Given the description of an element on the screen output the (x, y) to click on. 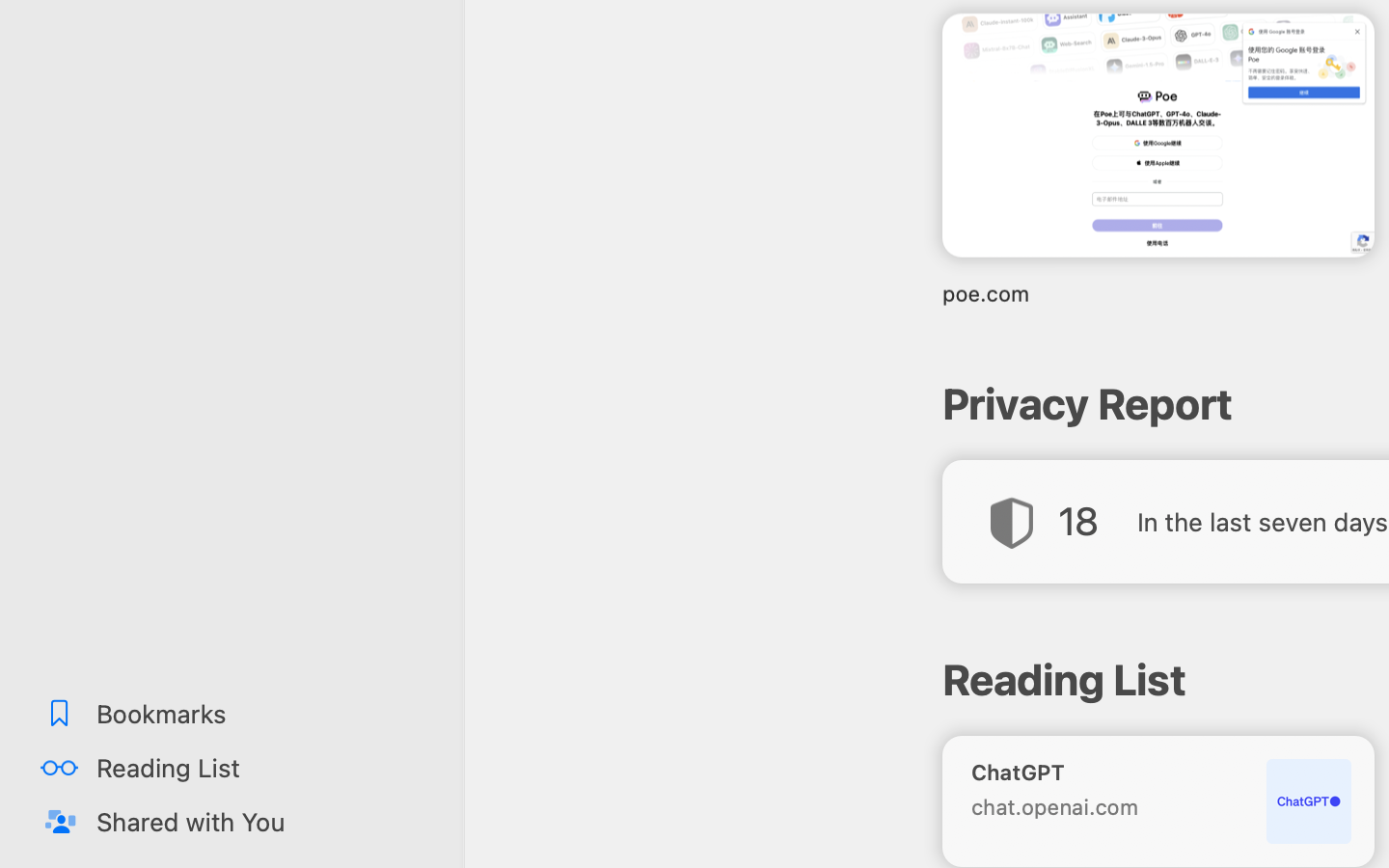
ChatGPT chat.openai.com Element type: AXButton (1157, 800)
poe.com Element type: AXStaticText (1157, 292)
18 Element type: AXStaticText (1077, 520)
